Given the description of an element on the screen output the (x, y) to click on. 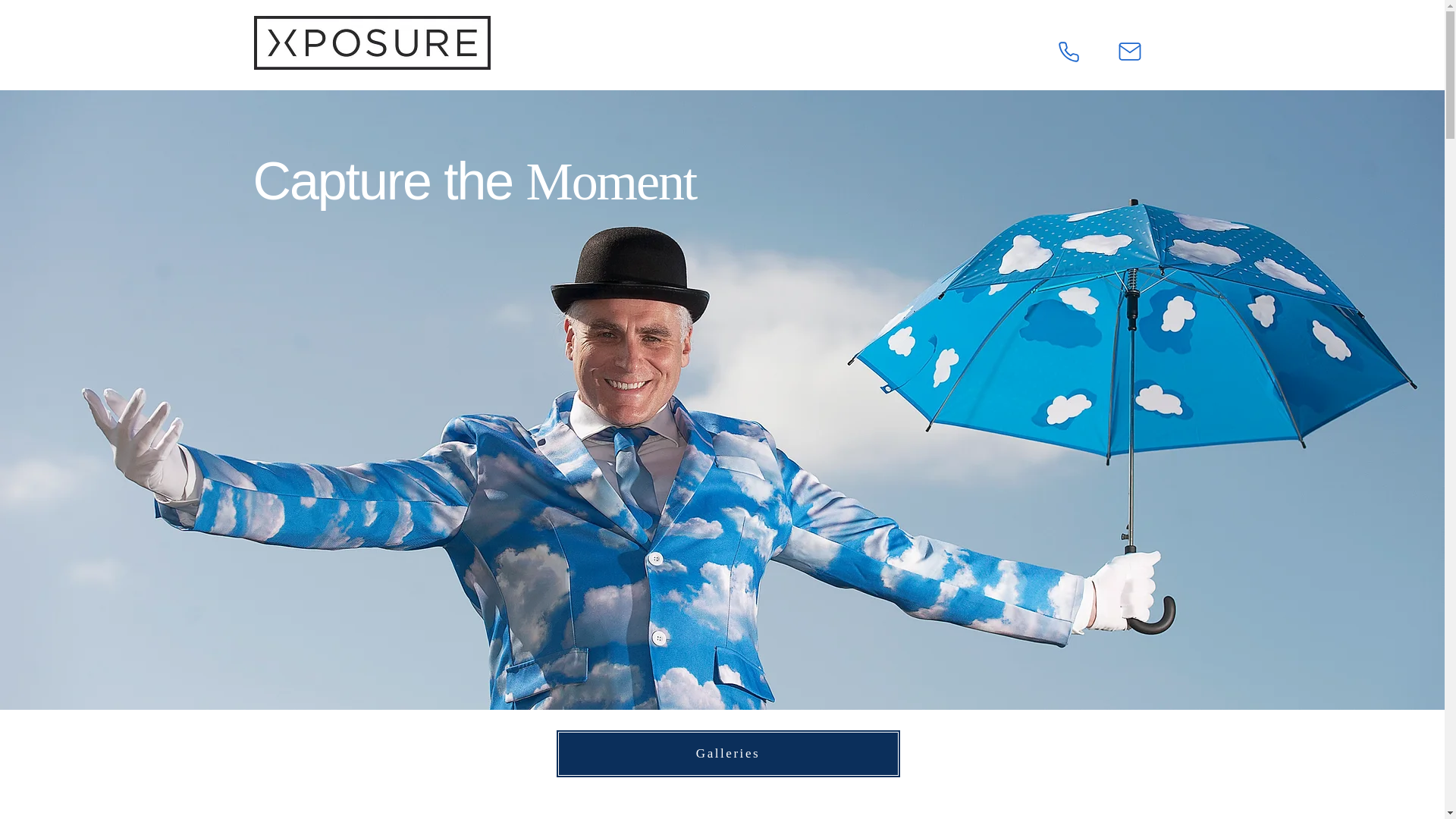
Galleries (726, 753)
